Given the description of an element on the screen output the (x, y) to click on. 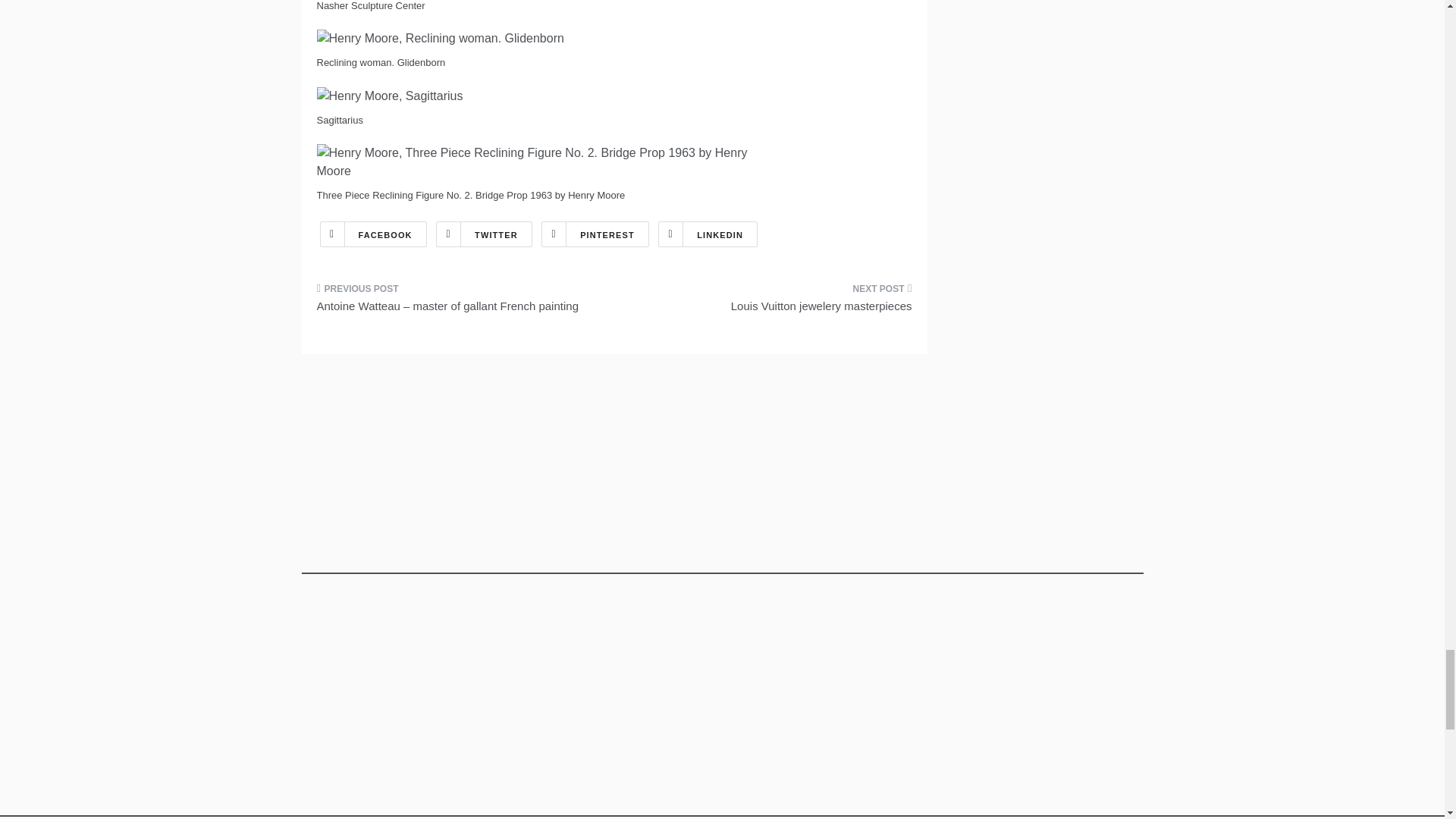
Louis Vuitton jewelery masterpieces (769, 302)
FACEBOOK (373, 234)
LINKEDIN (707, 234)
TWITTER (483, 234)
PINTEREST (595, 234)
